Given the description of an element on the screen output the (x, y) to click on. 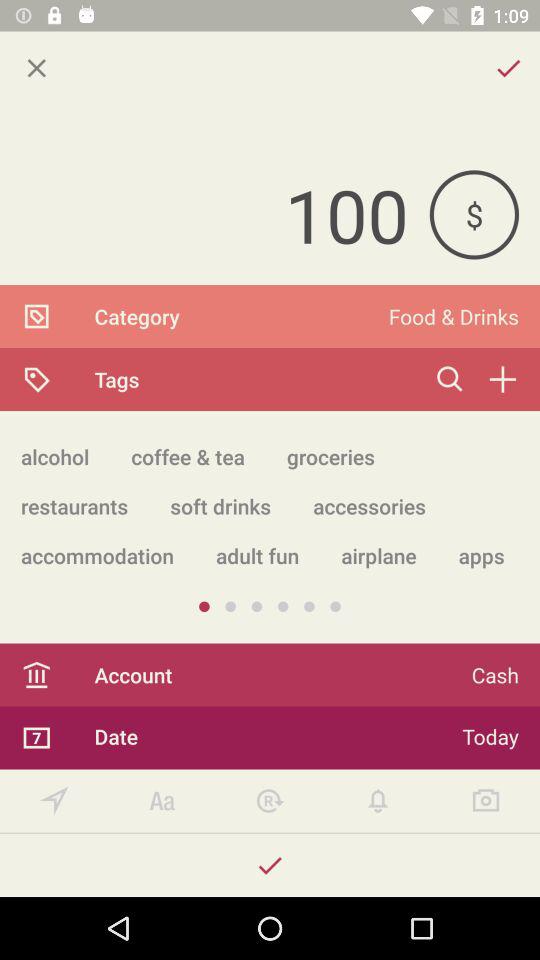
select the item next to apps icon (378, 555)
